Given the description of an element on the screen output the (x, y) to click on. 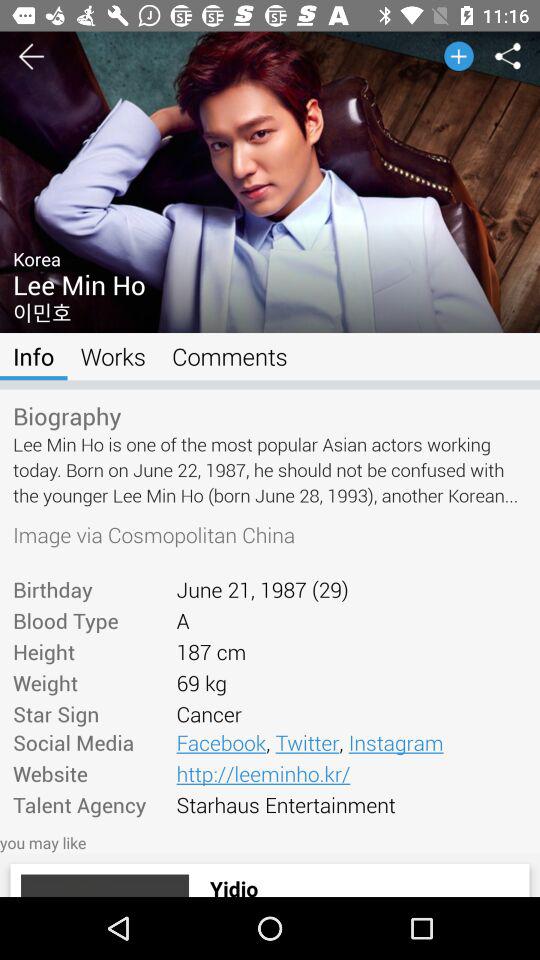
scroll until works app (112, 356)
